Given the description of an element on the screen output the (x, y) to click on. 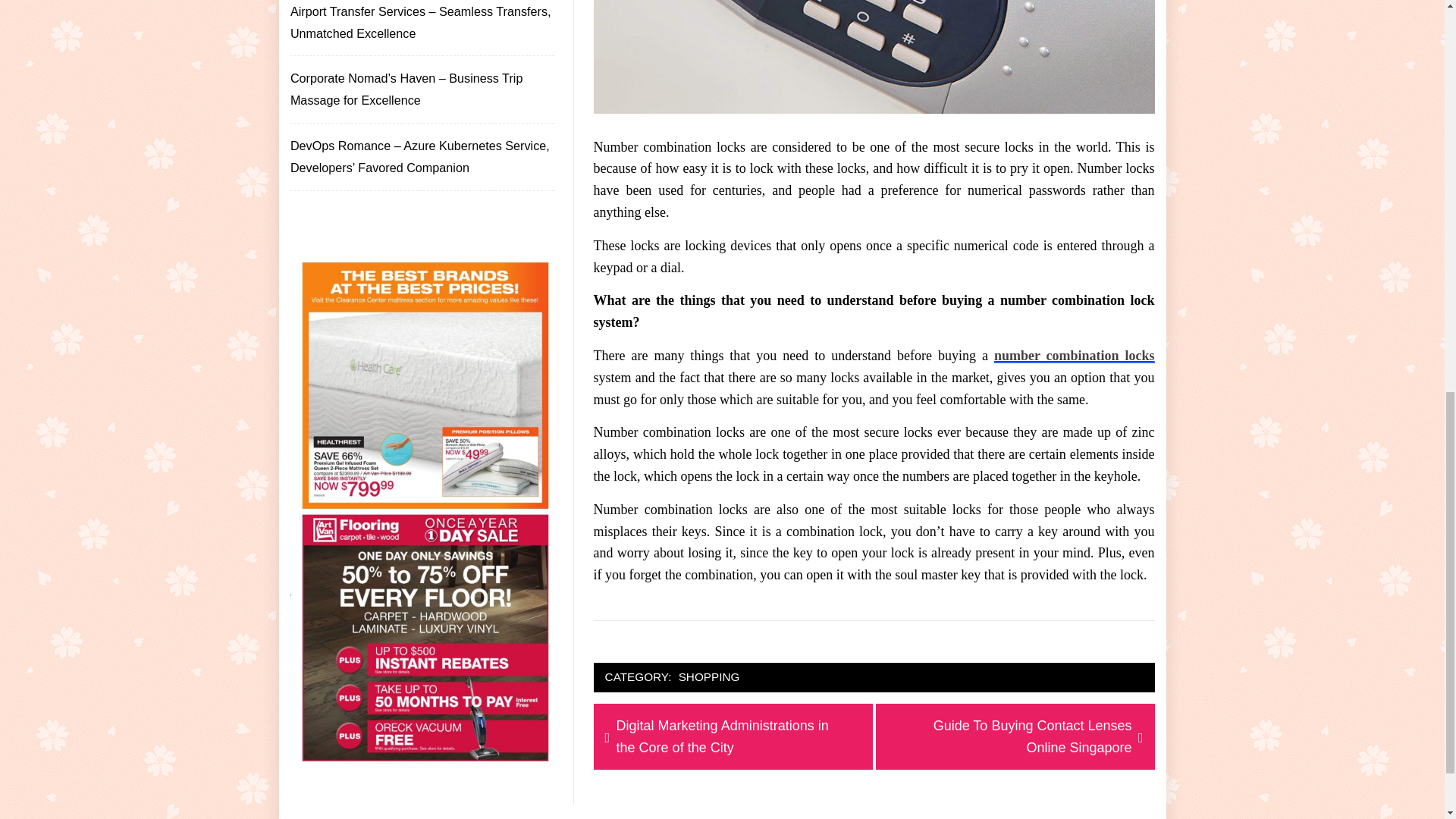
number combination locks (1074, 355)
SHOPPING (709, 677)
